Given the description of an element on the screen output the (x, y) to click on. 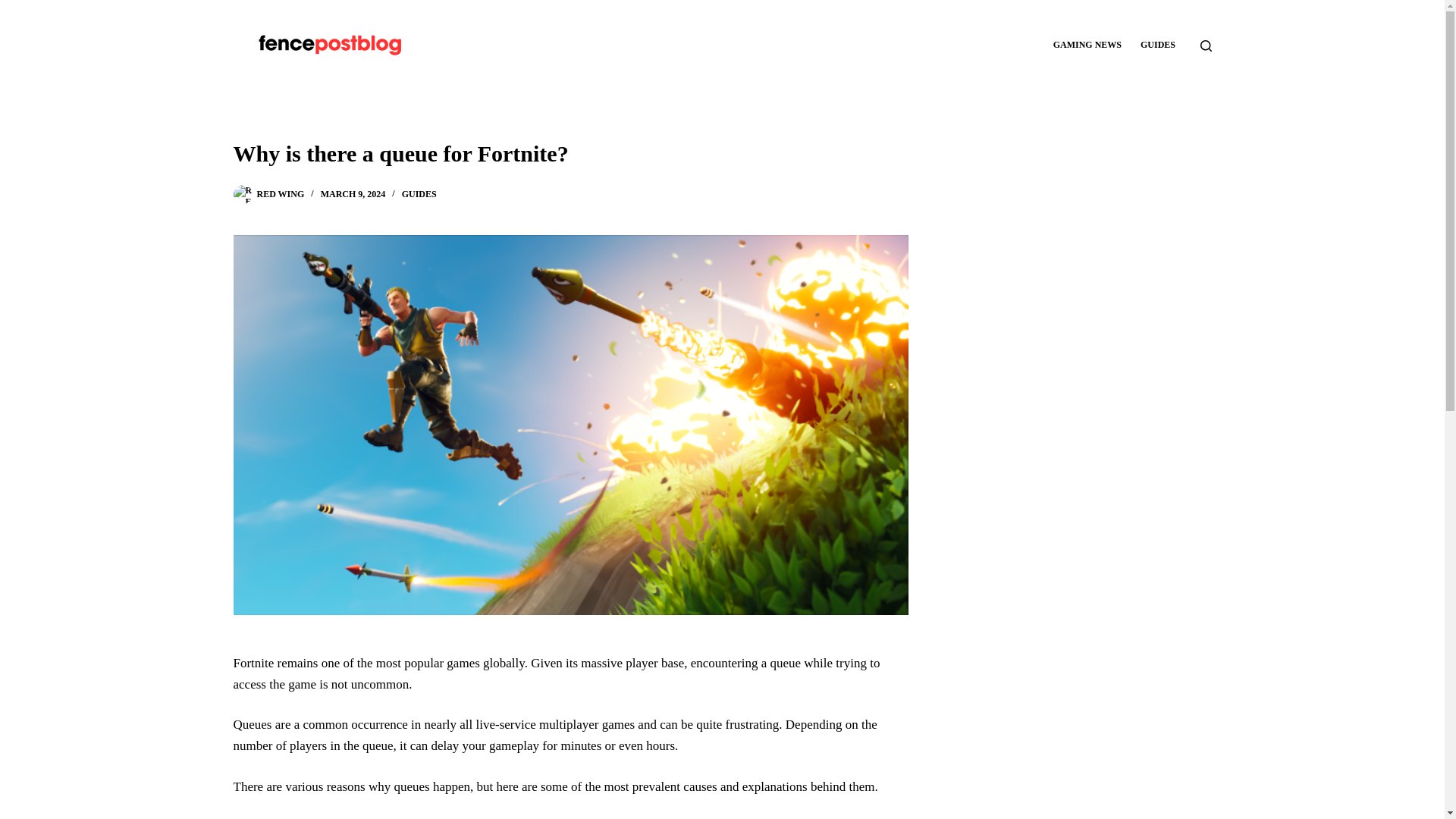
GUIDES (1158, 45)
Posts by Red wing (280, 194)
GAMING NEWS (1087, 45)
GUIDES (418, 194)
Why is there a queue for Fortnite? (570, 153)
Skip to content (15, 7)
RED WING (280, 194)
